Given the description of an element on the screen output the (x, y) to click on. 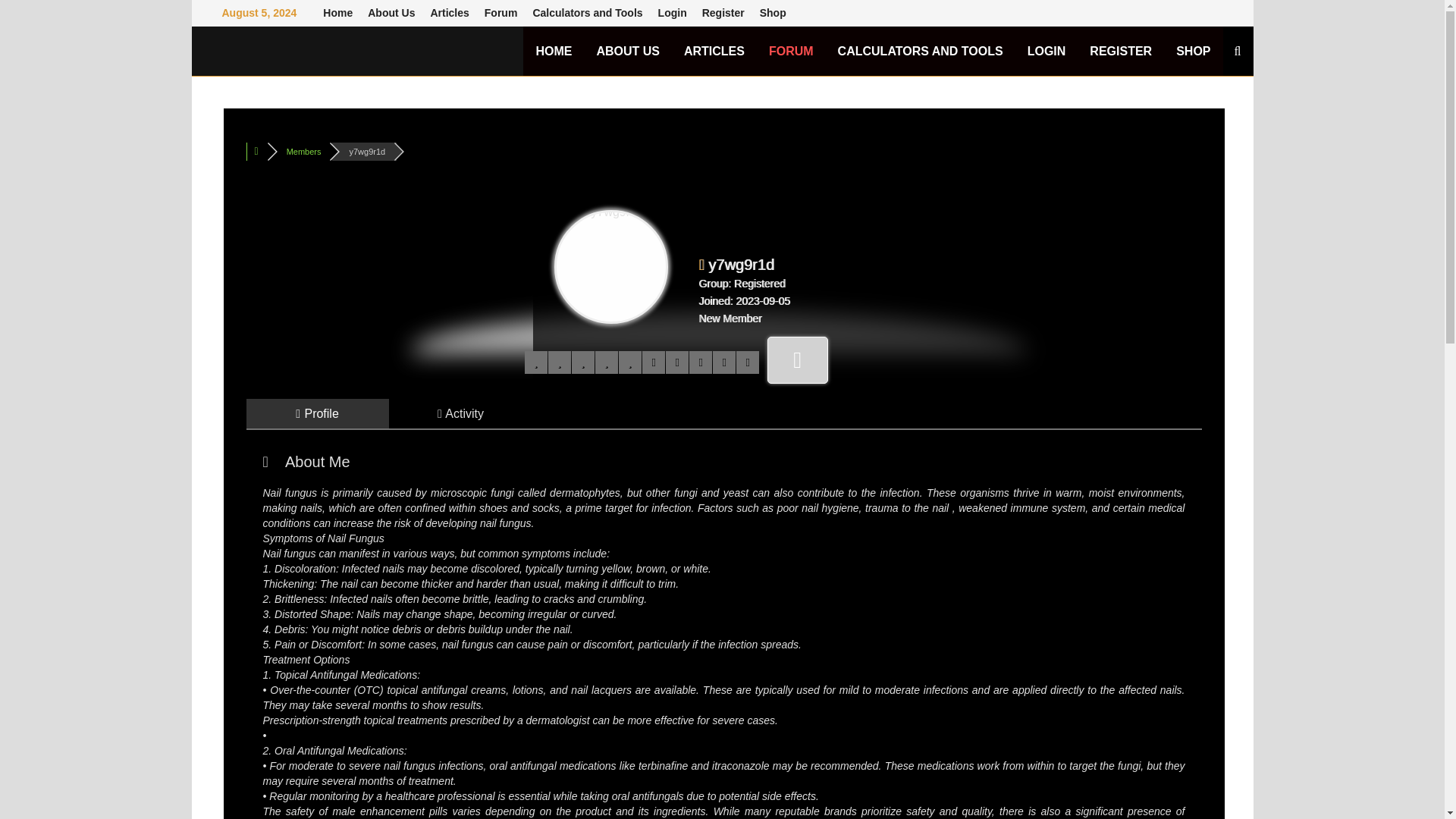
Home (337, 13)
Rating Badge (797, 360)
Member Rating (642, 362)
Calculators and Tools (586, 13)
Articles (449, 13)
Rating Title (729, 318)
ARTICLES (714, 51)
SHOP (1193, 51)
CALCULATORS AND TOOLS (919, 51)
